Given the description of an element on the screen output the (x, y) to click on. 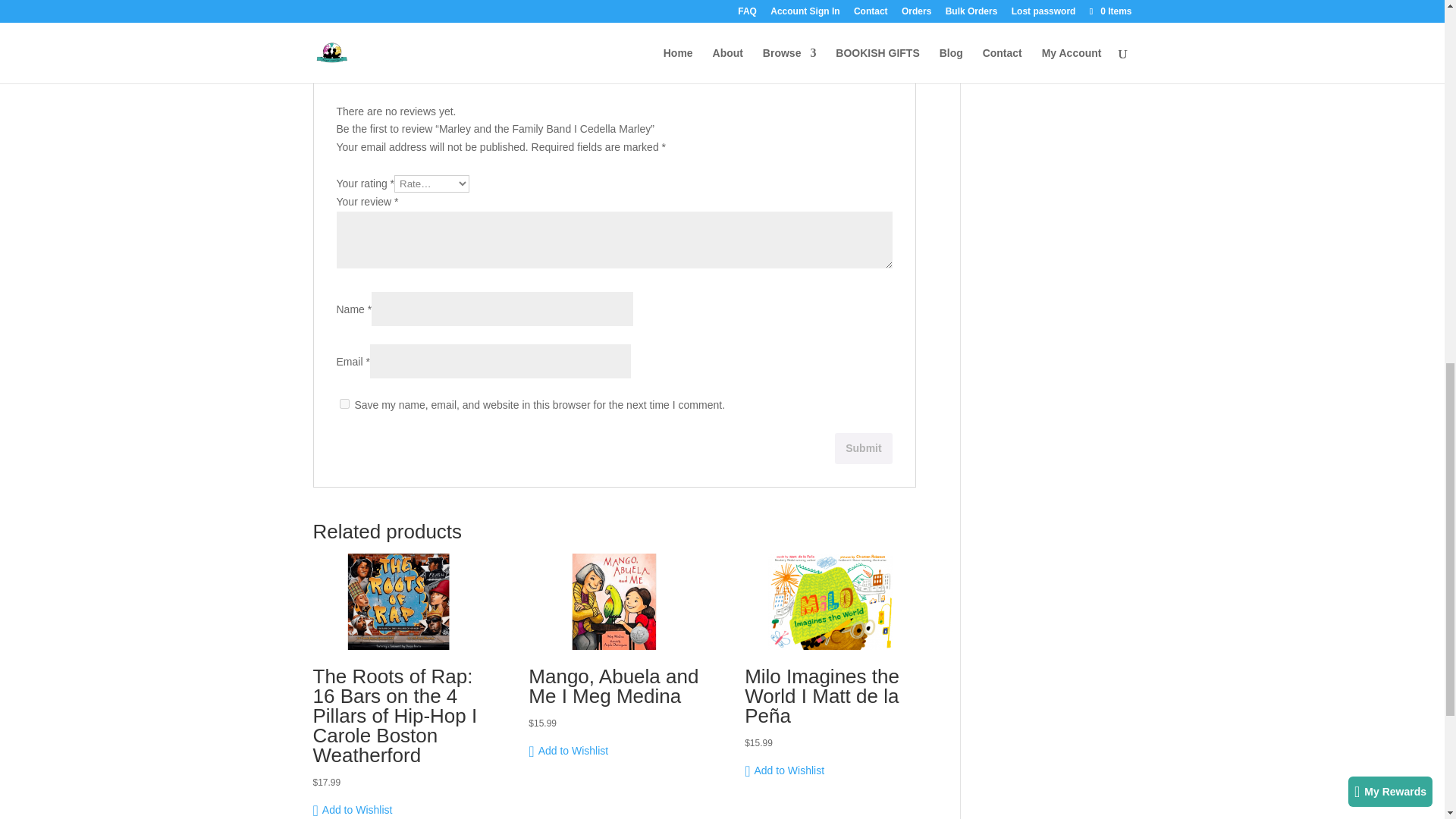
yes (344, 403)
Submit (862, 448)
